Given the description of an element on the screen output the (x, y) to click on. 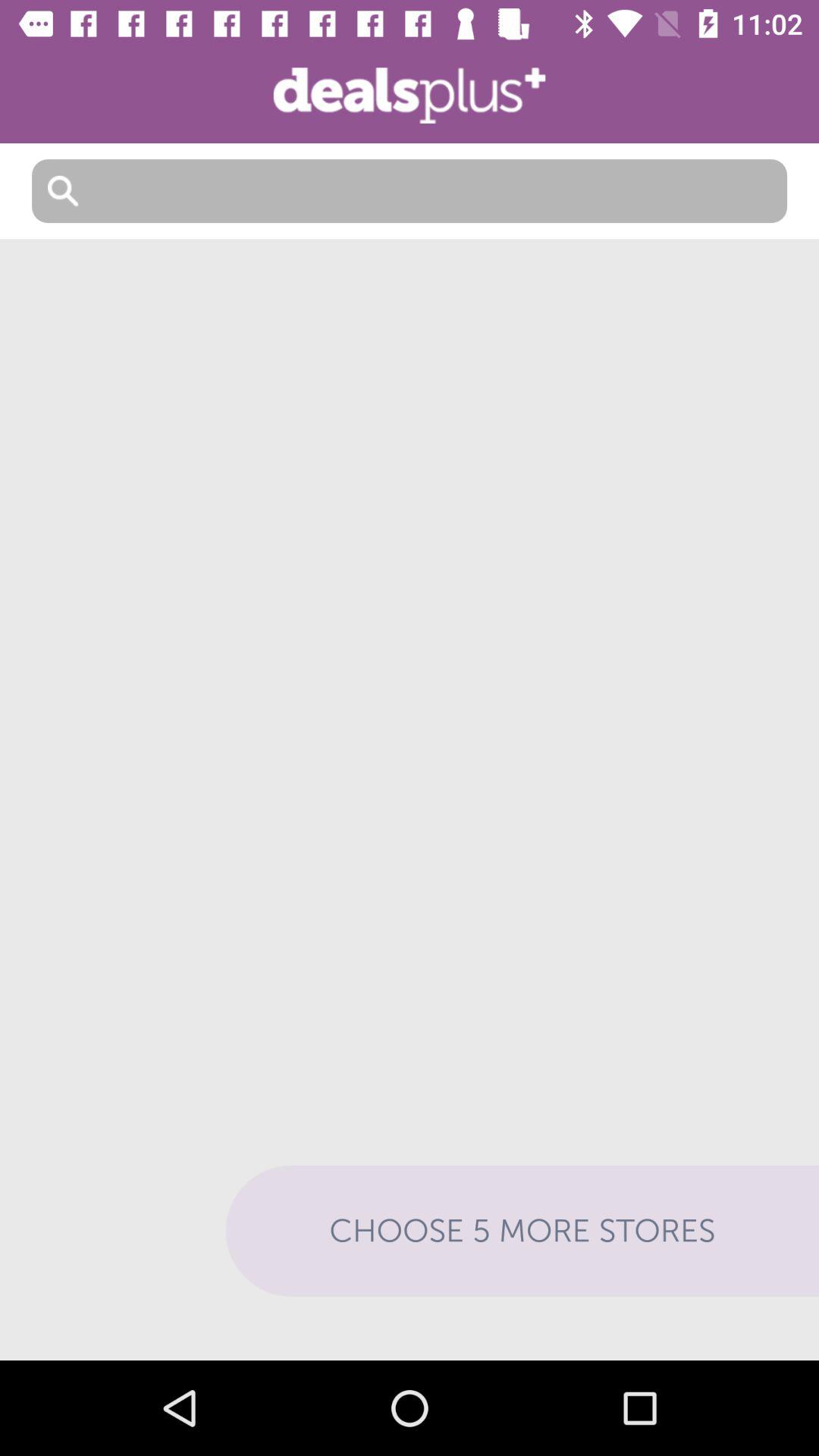
write something to search for it (409, 190)
